Given the description of an element on the screen output the (x, y) to click on. 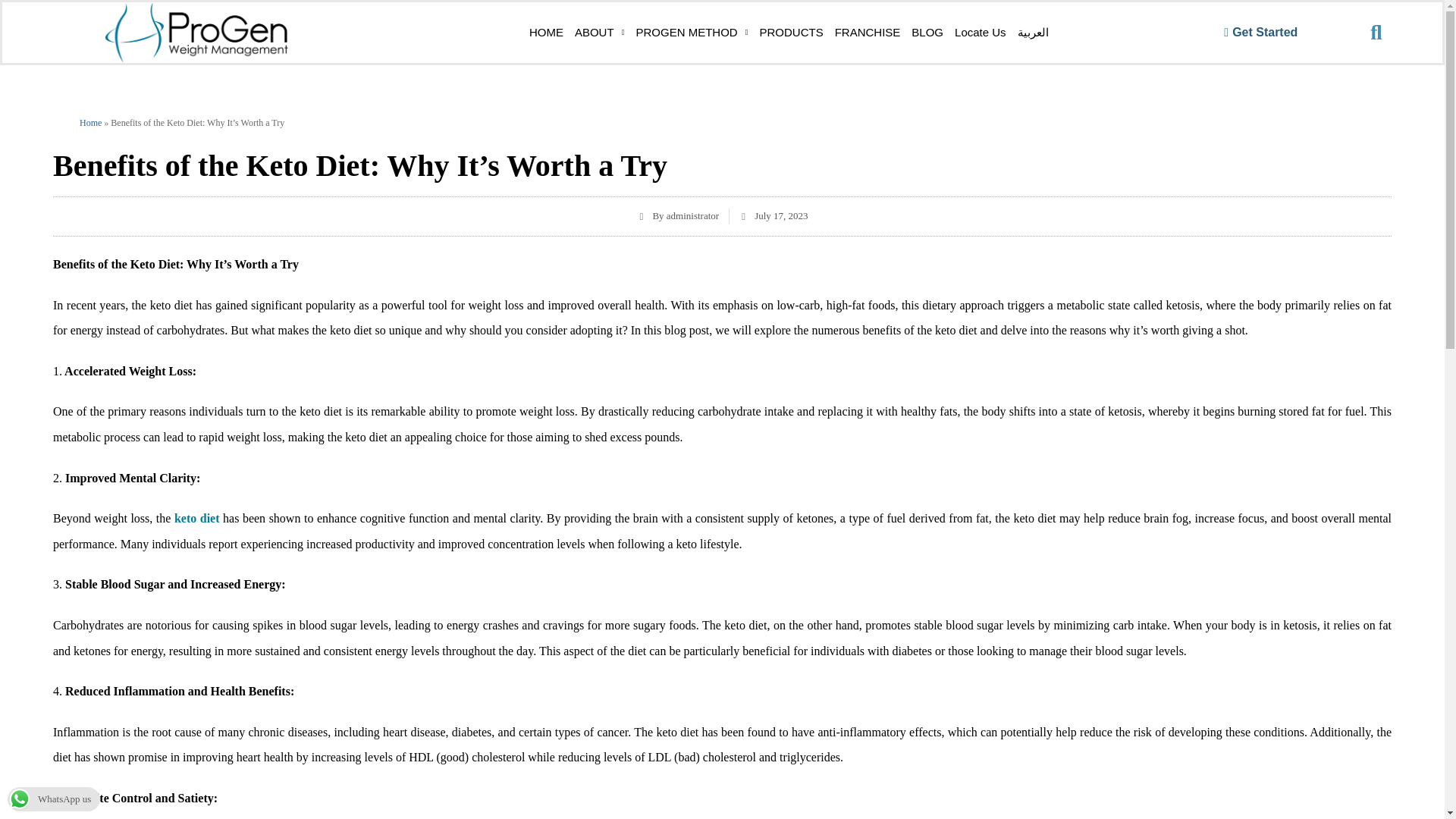
PROGEN METHOD (691, 32)
ABOUT (599, 32)
PRODUCTS (791, 32)
